Given the description of an element on the screen output the (x, y) to click on. 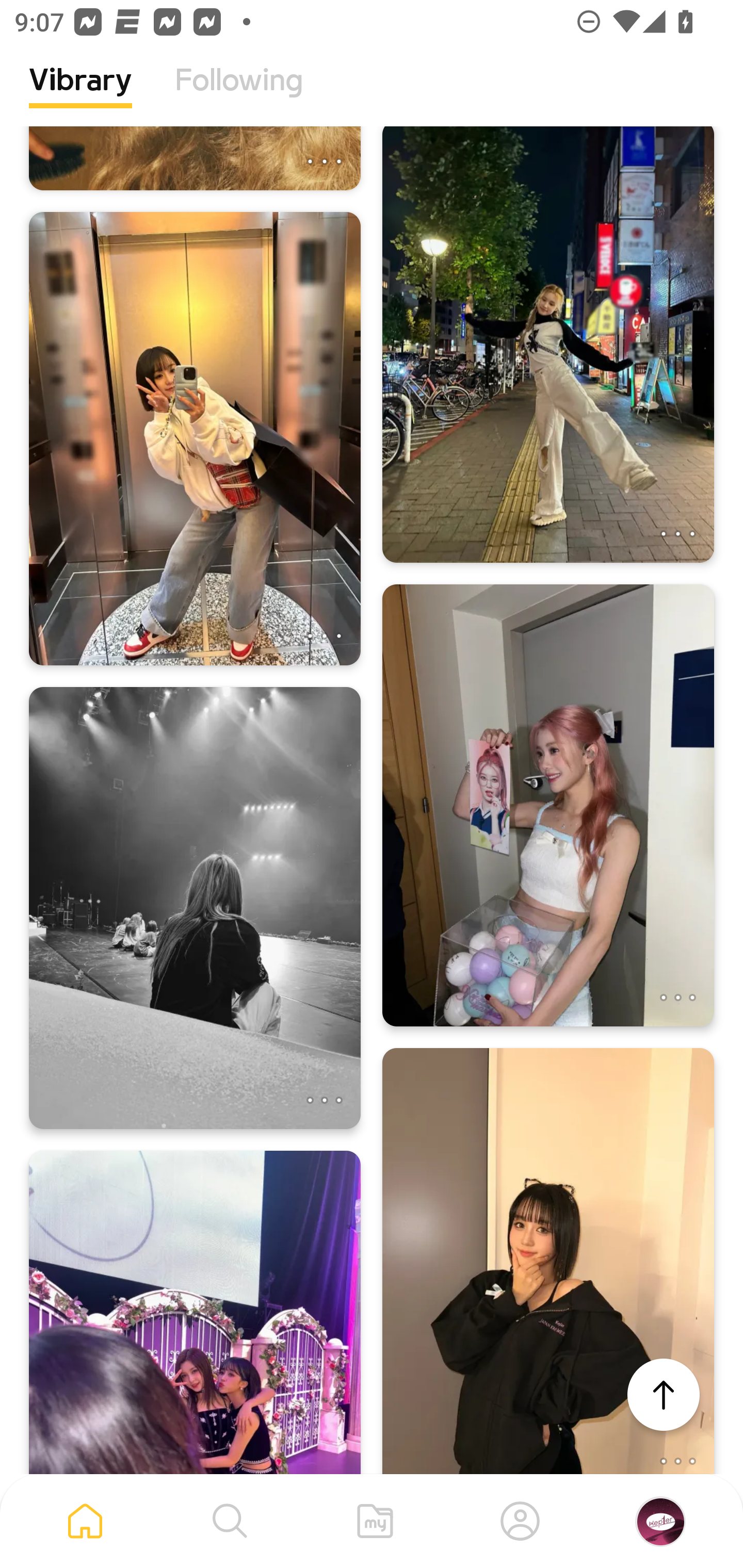
Vibrary (80, 95)
Following (239, 95)
